Given the description of an element on the screen output the (x, y) to click on. 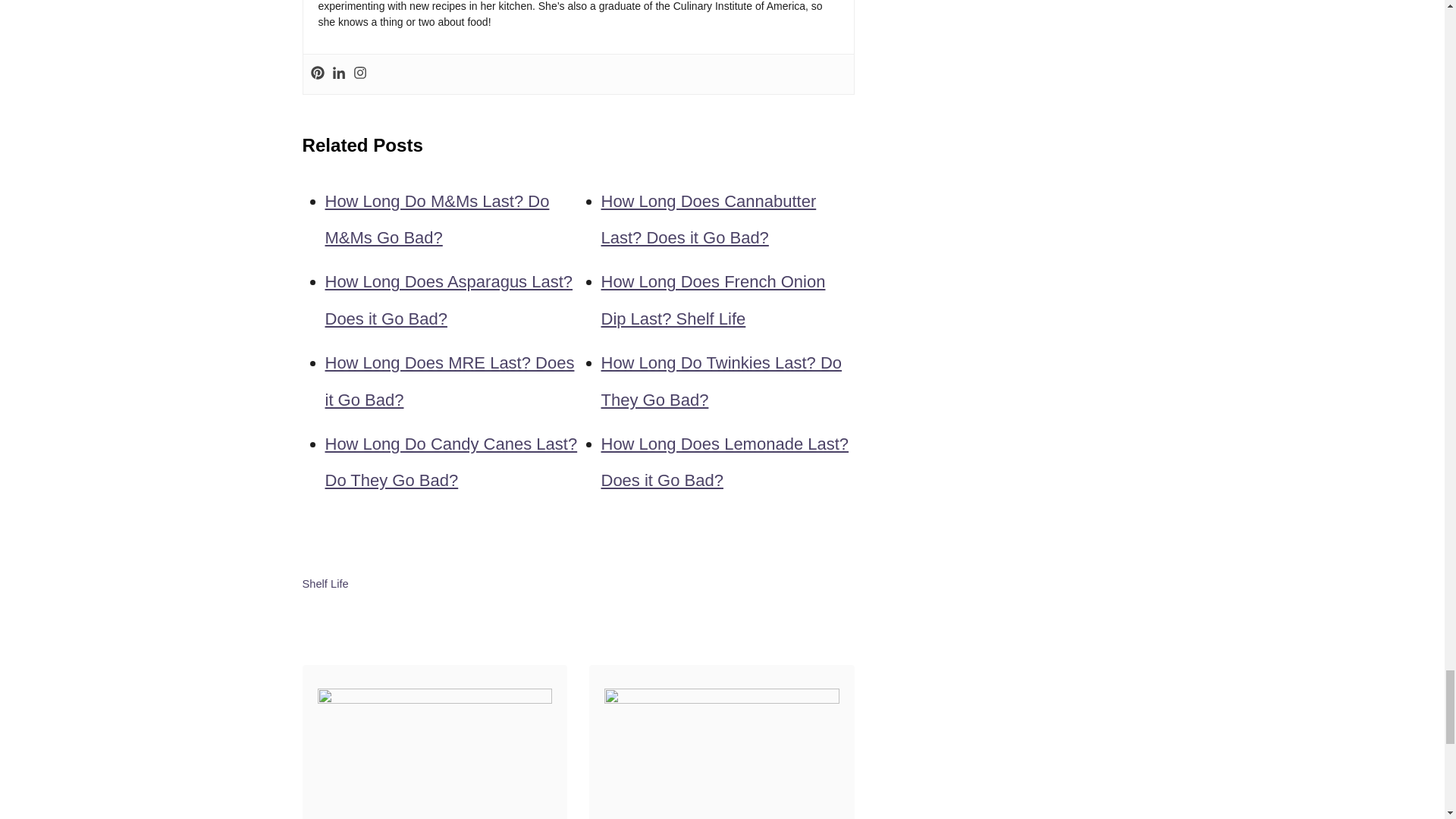
How Long Do Candy Canes Last? Do They Go Bad? (450, 461)
How Long Does Cannabutter Last? Does it Go Bad? (707, 219)
How Long Does Asparagus Last? Does it Go Bad? (448, 299)
How Long Does French Onion Dip Last? Shelf Life (712, 299)
How Long Does MRE Last? Does it Go Bad? (448, 380)
